Given the description of an element on the screen output the (x, y) to click on. 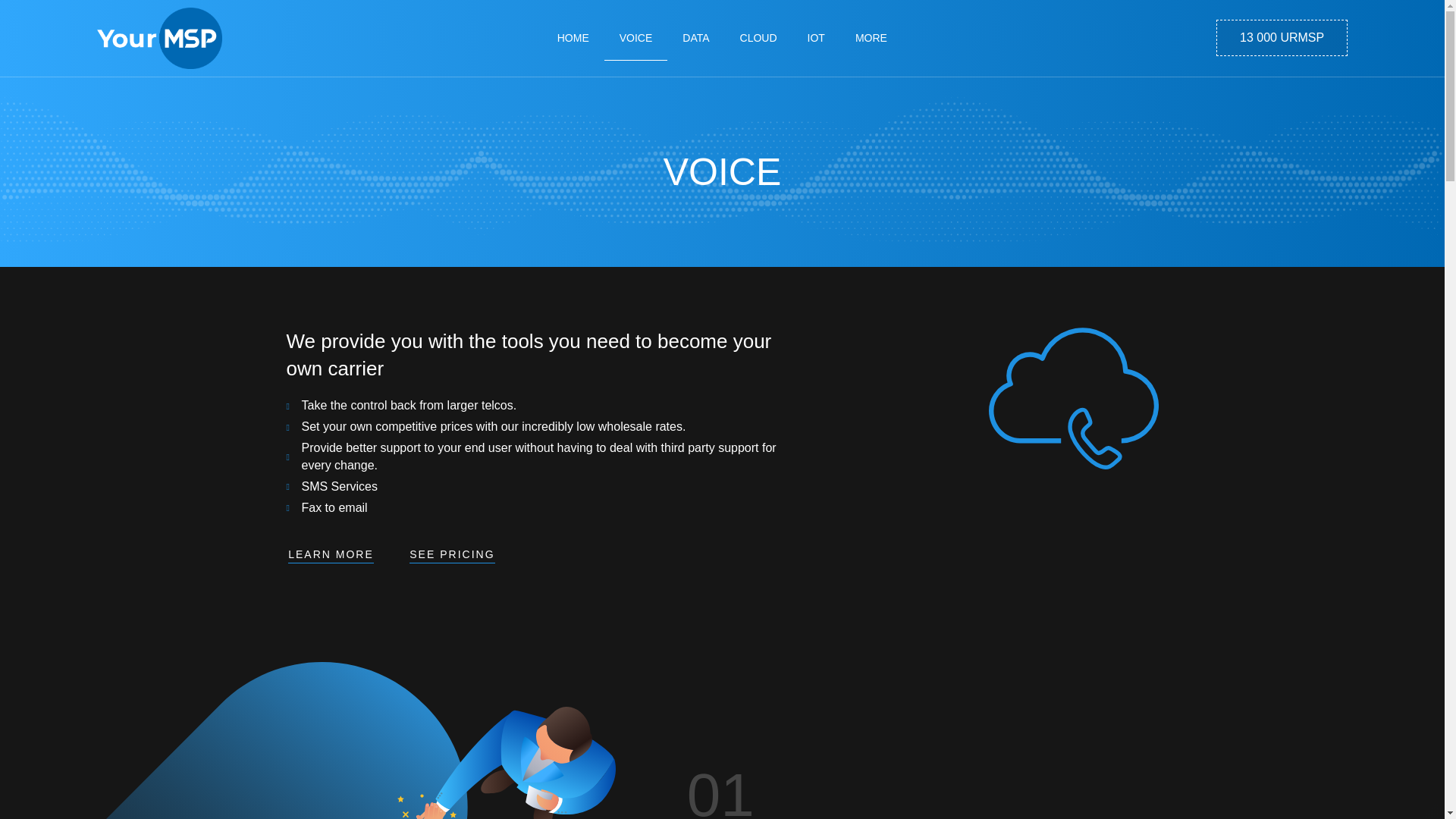
VOICE (636, 37)
MORE (871, 37)
IOT (816, 37)
CLOUD (758, 37)
DATA (694, 37)
HOME (572, 37)
